Given the description of an element on the screen output the (x, y) to click on. 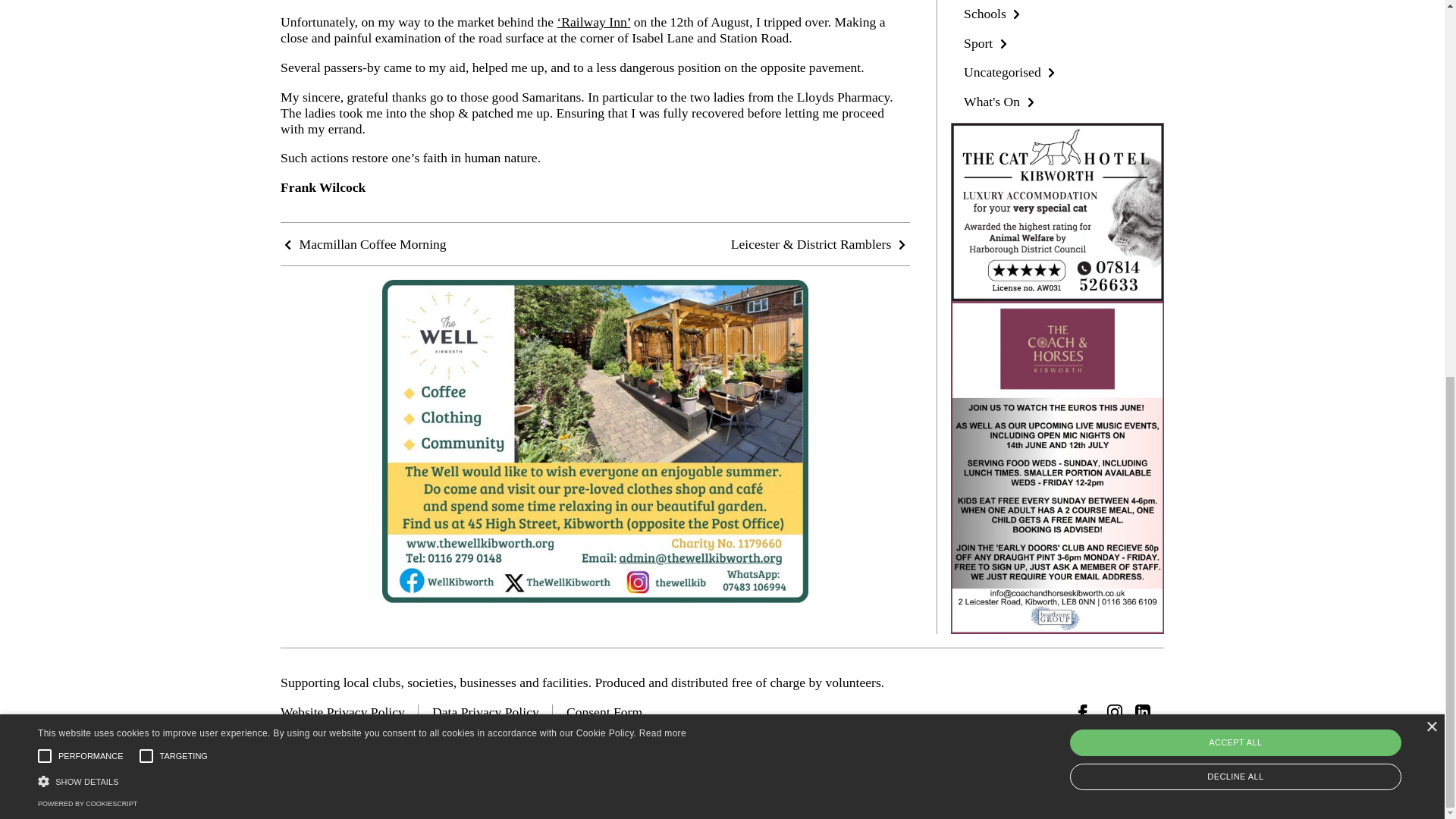
Uncategorised (1011, 71)
Sport (987, 43)
Consent Management Platform (86, 108)
What's On (1000, 101)
Macmillan Coffee Morning (363, 244)
Follow us on Instagram (1114, 711)
Like us on Facebook (1085, 711)
Connect with us on LinkedIn (1142, 711)
Schools (994, 13)
